Given the description of an element on the screen output the (x, y) to click on. 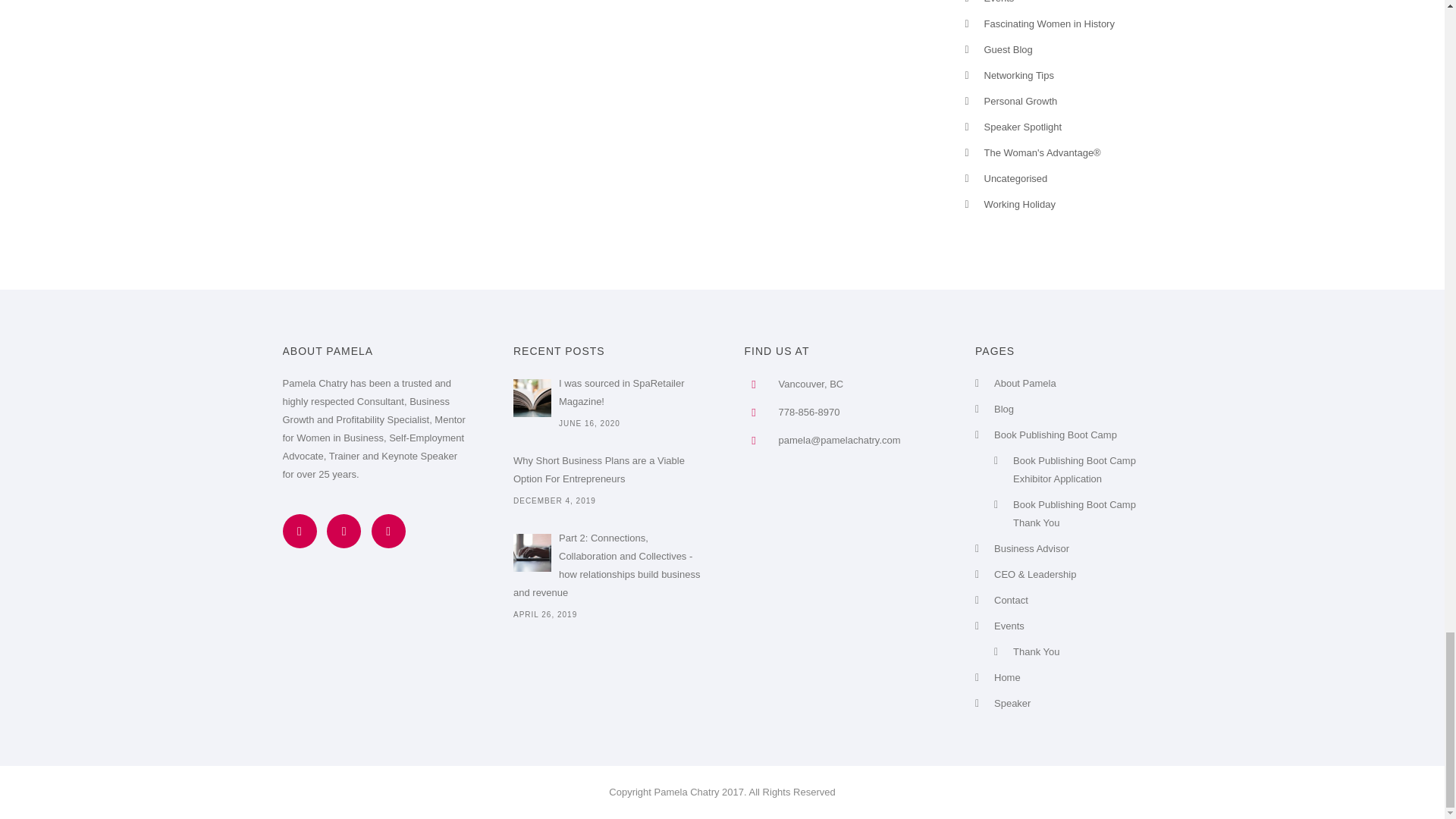
I was sourced in SpaRetailer Magazine! (606, 392)
I was sourced in SpaRetailer Magazine! (532, 397)
